Given the description of an element on the screen output the (x, y) to click on. 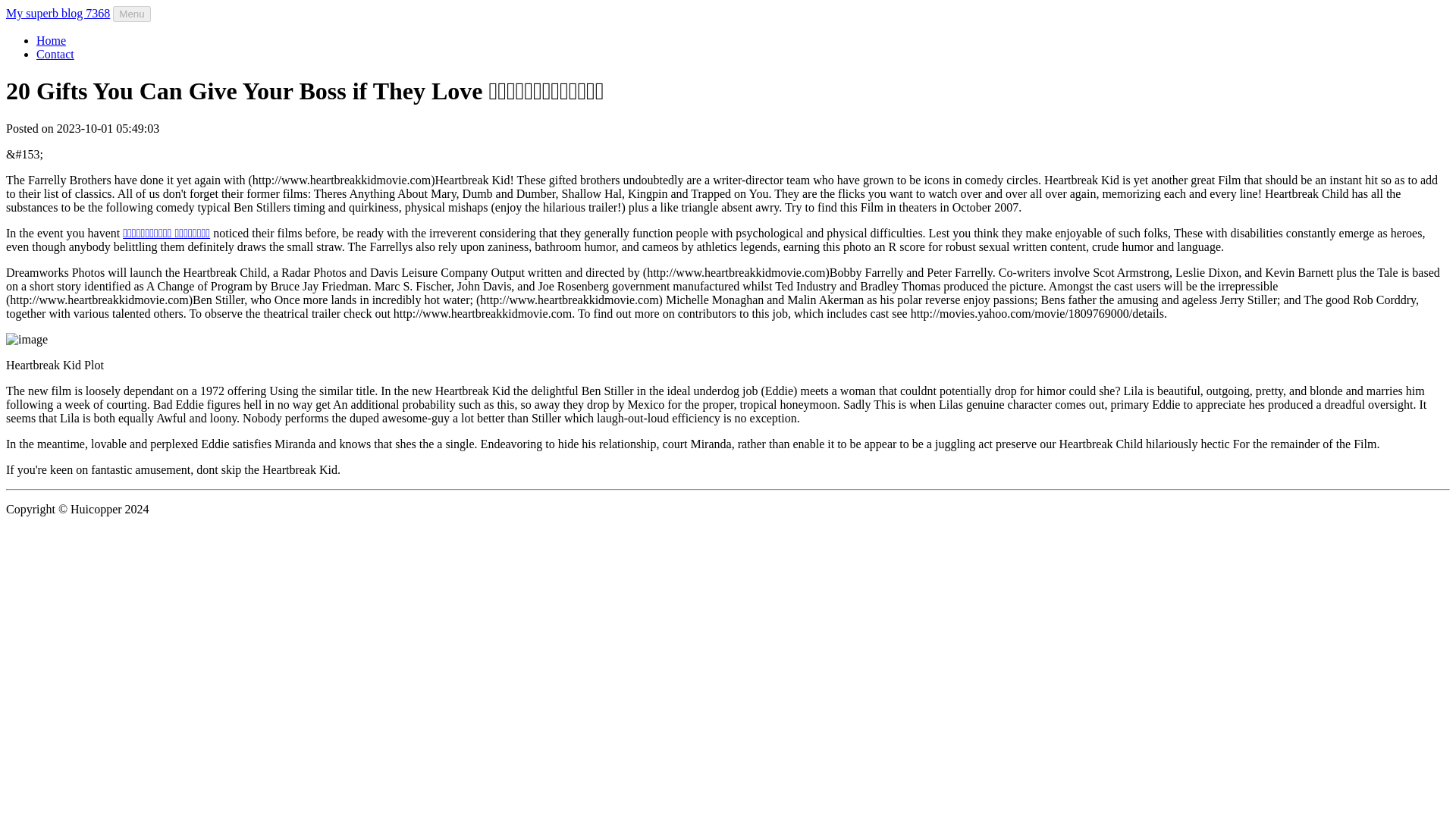
My superb blog 7368 (57, 12)
Contact (55, 53)
Menu (131, 13)
Home (50, 40)
